Given the description of an element on the screen output the (x, y) to click on. 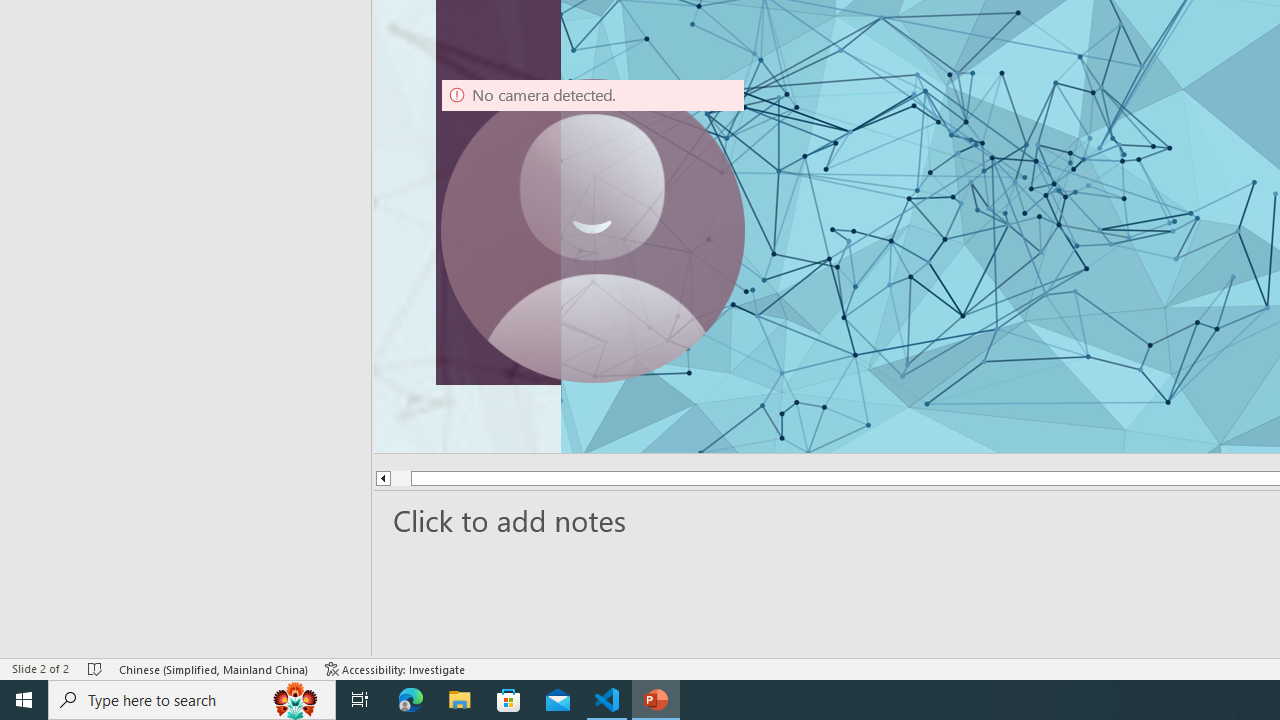
Camera 9, No camera detected. (593, 230)
